Given the description of an element on the screen output the (x, y) to click on. 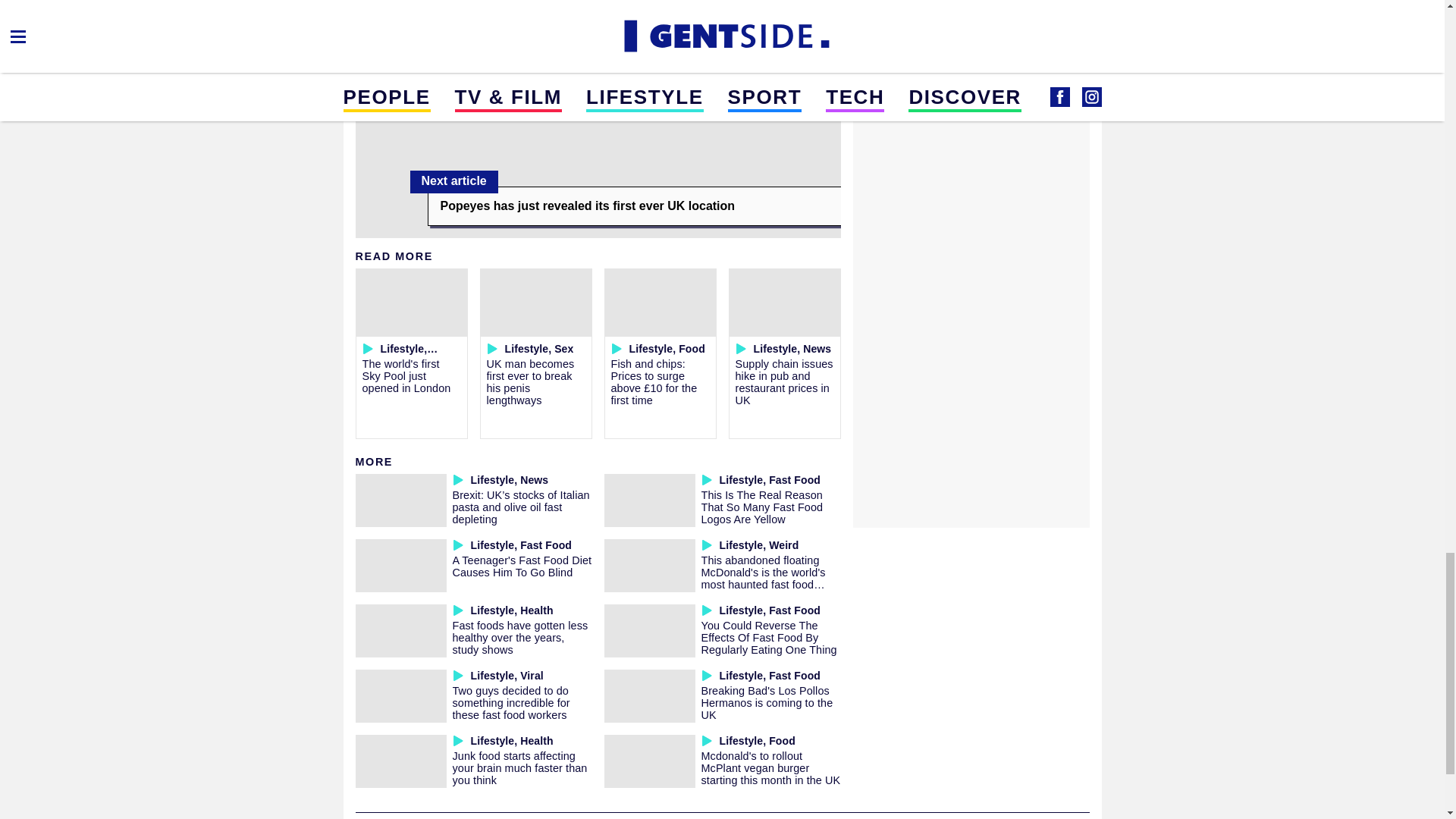
Breaking Bad's Los Pollos Hermanos is coming to the UK (766, 702)
A Teenager's Fast Food Diet Causes Him To Go Blind (521, 566)
The world's first Sky Pool just opened in London (406, 375)
Popeyes has just revealed its first ever UK location (634, 206)
UK man becomes first ever to break his penis lengthways (530, 381)
Supply chain issues hike in pub and restaurant prices in UK (783, 381)
